Given the description of an element on the screen output the (x, y) to click on. 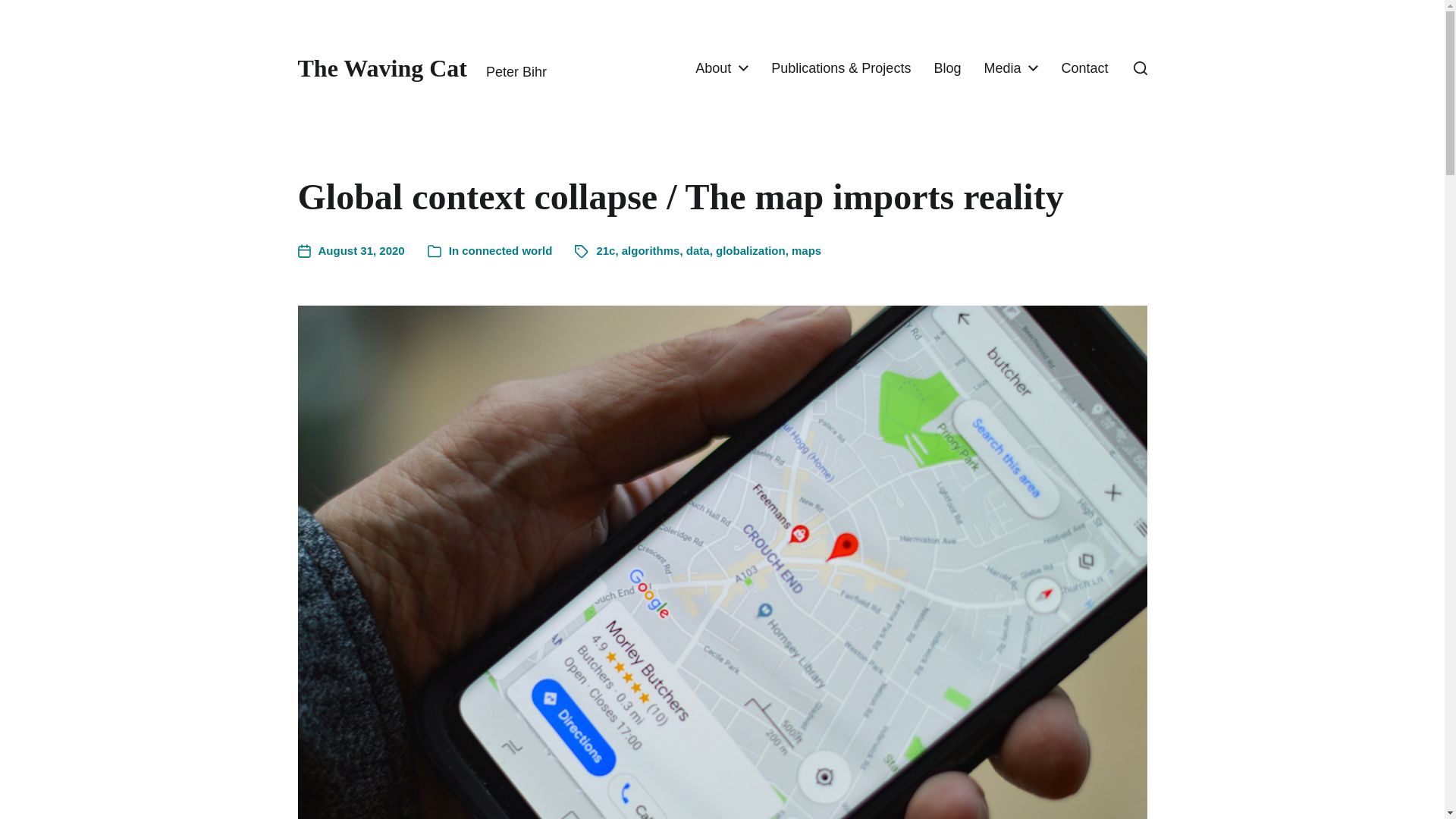
August 31, 2020 (350, 251)
globalization (751, 250)
maps (806, 250)
The Waving Cat (381, 68)
data (697, 250)
About (712, 68)
algorithms (650, 250)
Blog (946, 68)
Contact (1084, 68)
connected world (506, 250)
21c (604, 250)
Media (1002, 68)
